Given the description of an element on the screen output the (x, y) to click on. 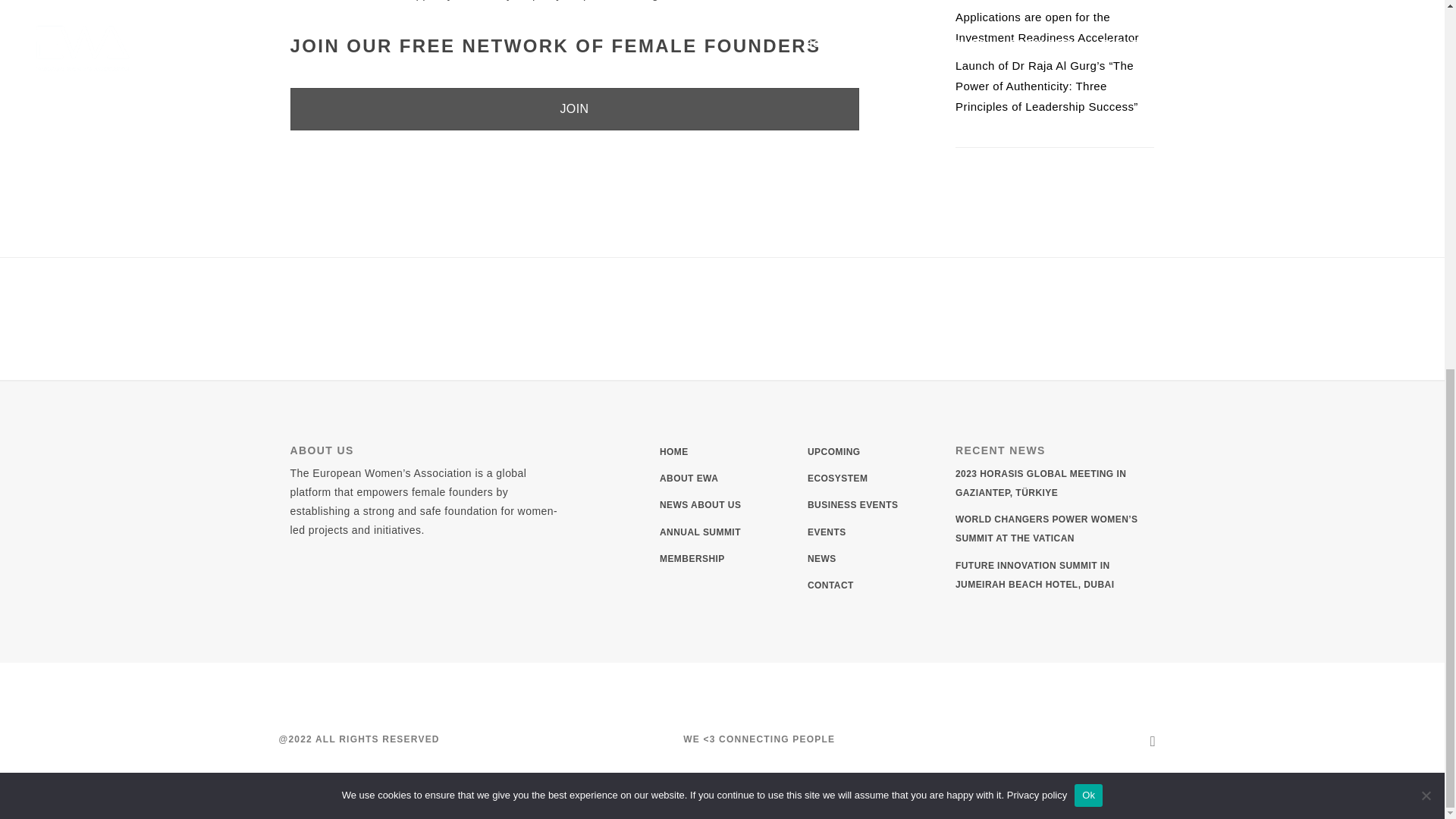
JOIN (574, 108)
No (1425, 126)
